Given the description of an element on the screen output the (x, y) to click on. 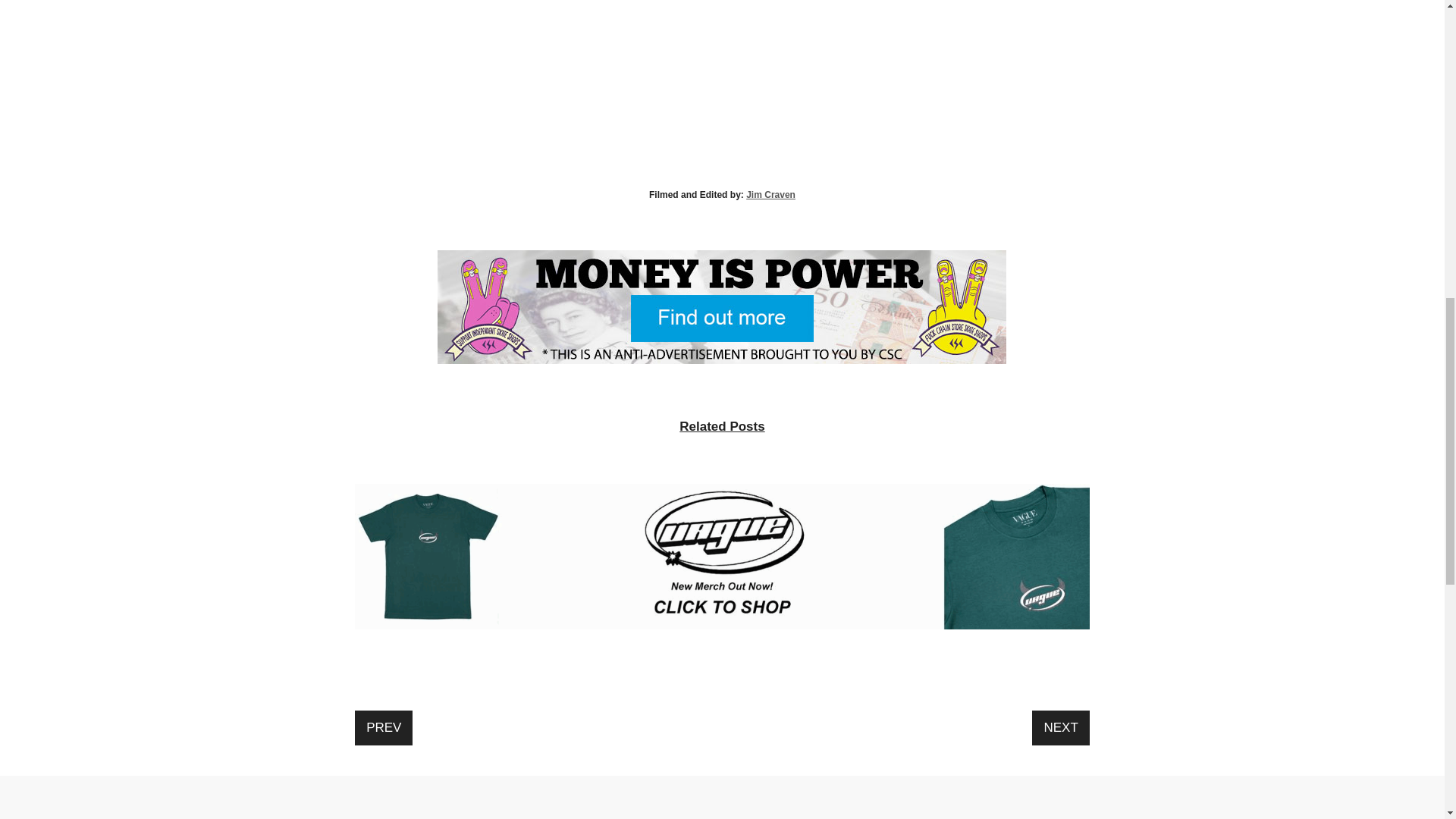
Tom Day Pro Megamix (722, 90)
Jim Craven (769, 194)
PREV (383, 727)
NEXT (1060, 727)
